Given the description of an element on the screen output the (x, y) to click on. 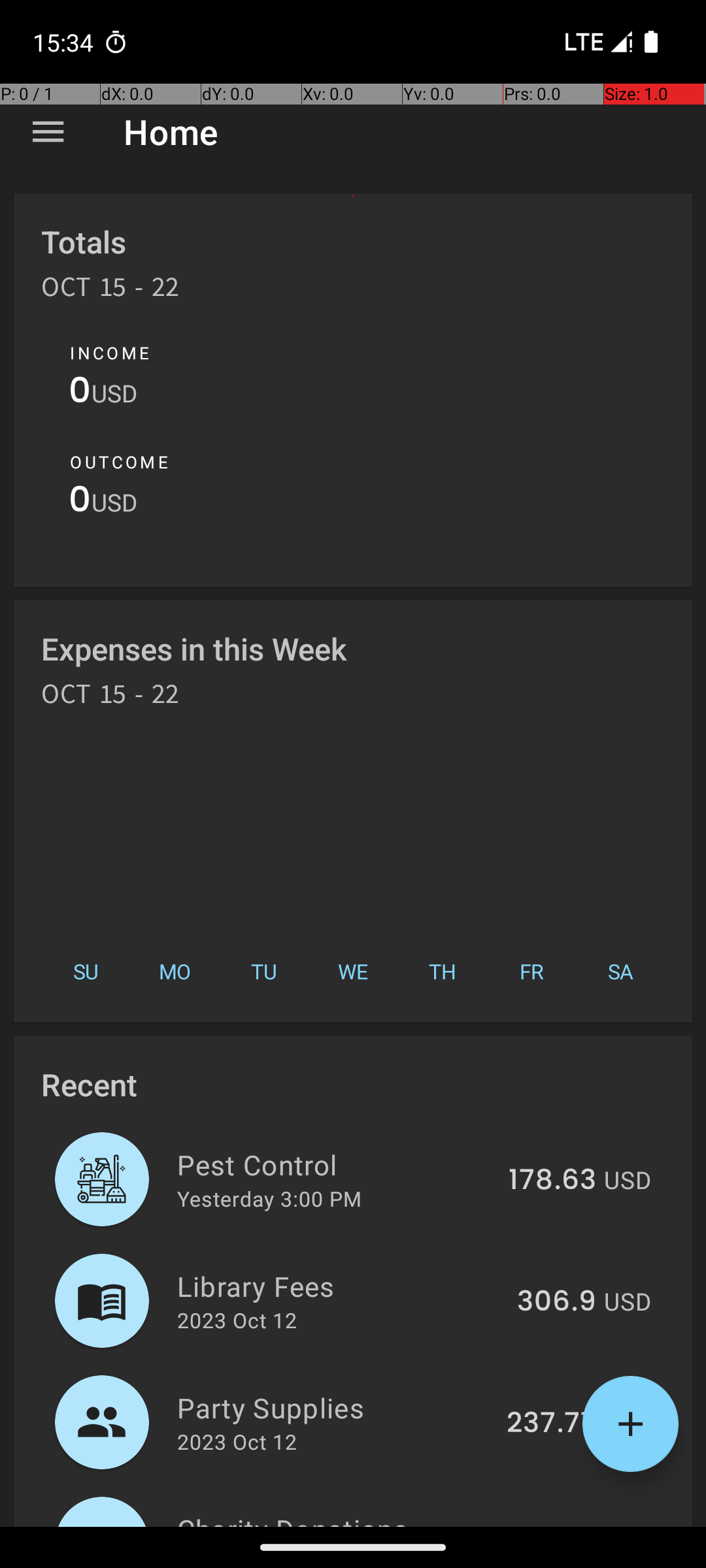
Pest Control Element type: android.widget.TextView (335, 1164)
Yesterday 3:00 PM Element type: android.widget.TextView (269, 1198)
178.63 Element type: android.widget.TextView (551, 1180)
Library Fees Element type: android.widget.TextView (339, 1285)
306.9 Element type: android.widget.TextView (556, 1301)
Party Supplies Element type: android.widget.TextView (334, 1407)
237.77 Element type: android.widget.TextView (550, 1423)
Charity Donations Element type: android.widget.TextView (334, 1518)
136.39 Element type: android.widget.TextView (551, 1524)
